Given the description of an element on the screen output the (x, y) to click on. 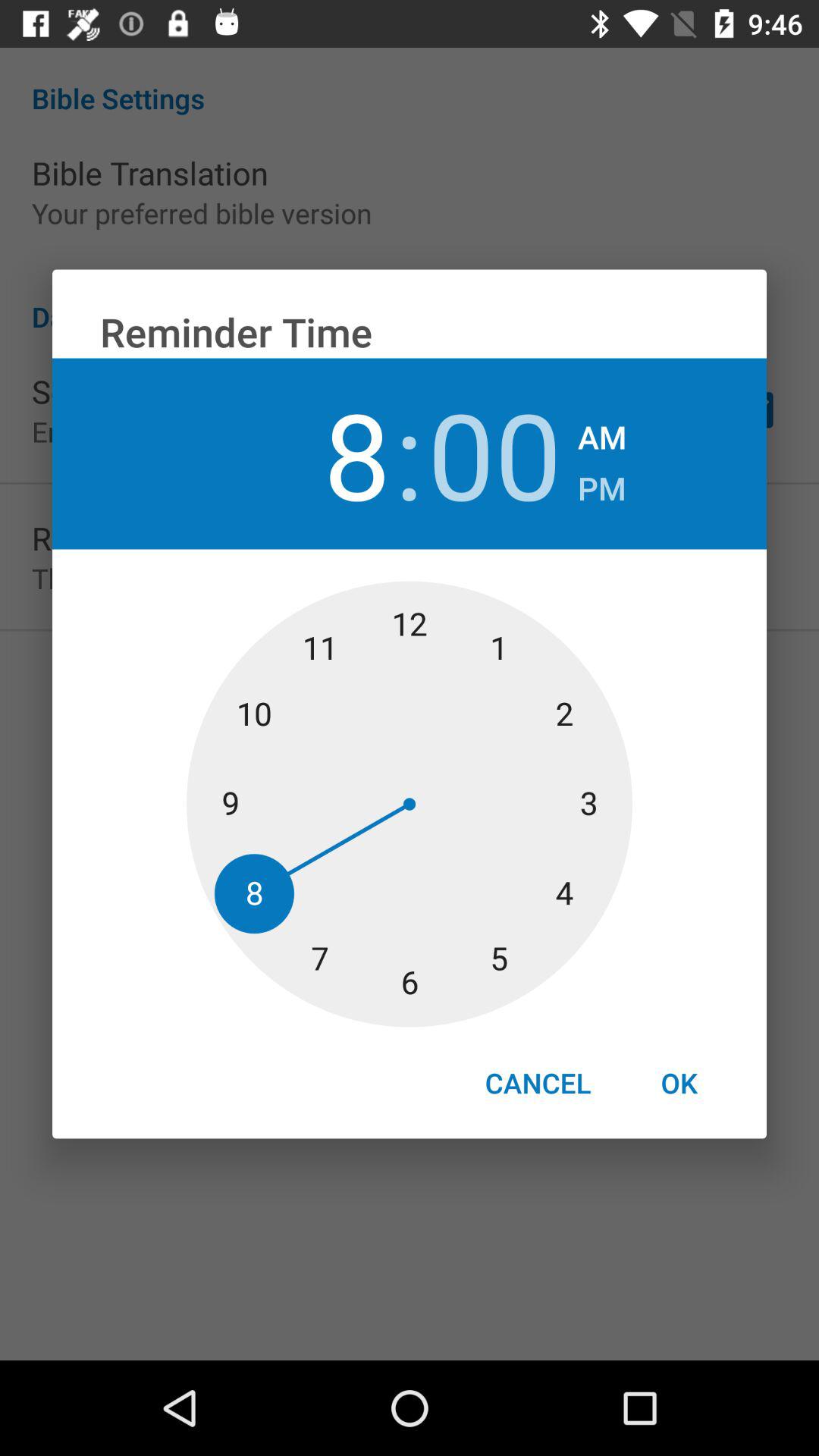
press the item next to the : icon (494, 453)
